Given the description of an element on the screen output the (x, y) to click on. 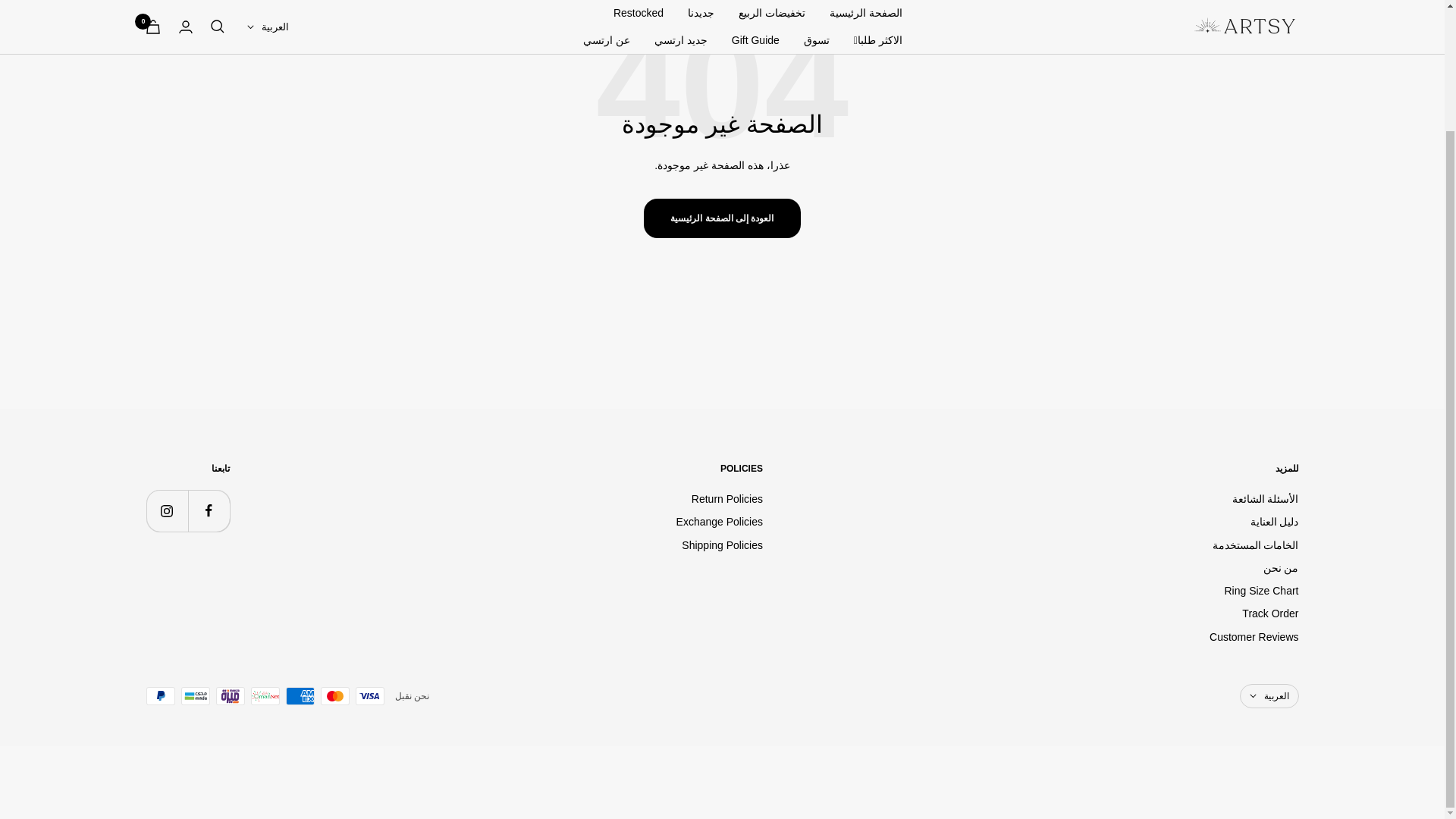
en (1265, 634)
Track Order (1269, 613)
ar (1265, 652)
Customer Reviews (1253, 637)
Return Policies (726, 498)
Exchange Policies (719, 521)
Shipping Policies (721, 545)
Ring Size Chart (1261, 590)
